Given the description of an element on the screen output the (x, y) to click on. 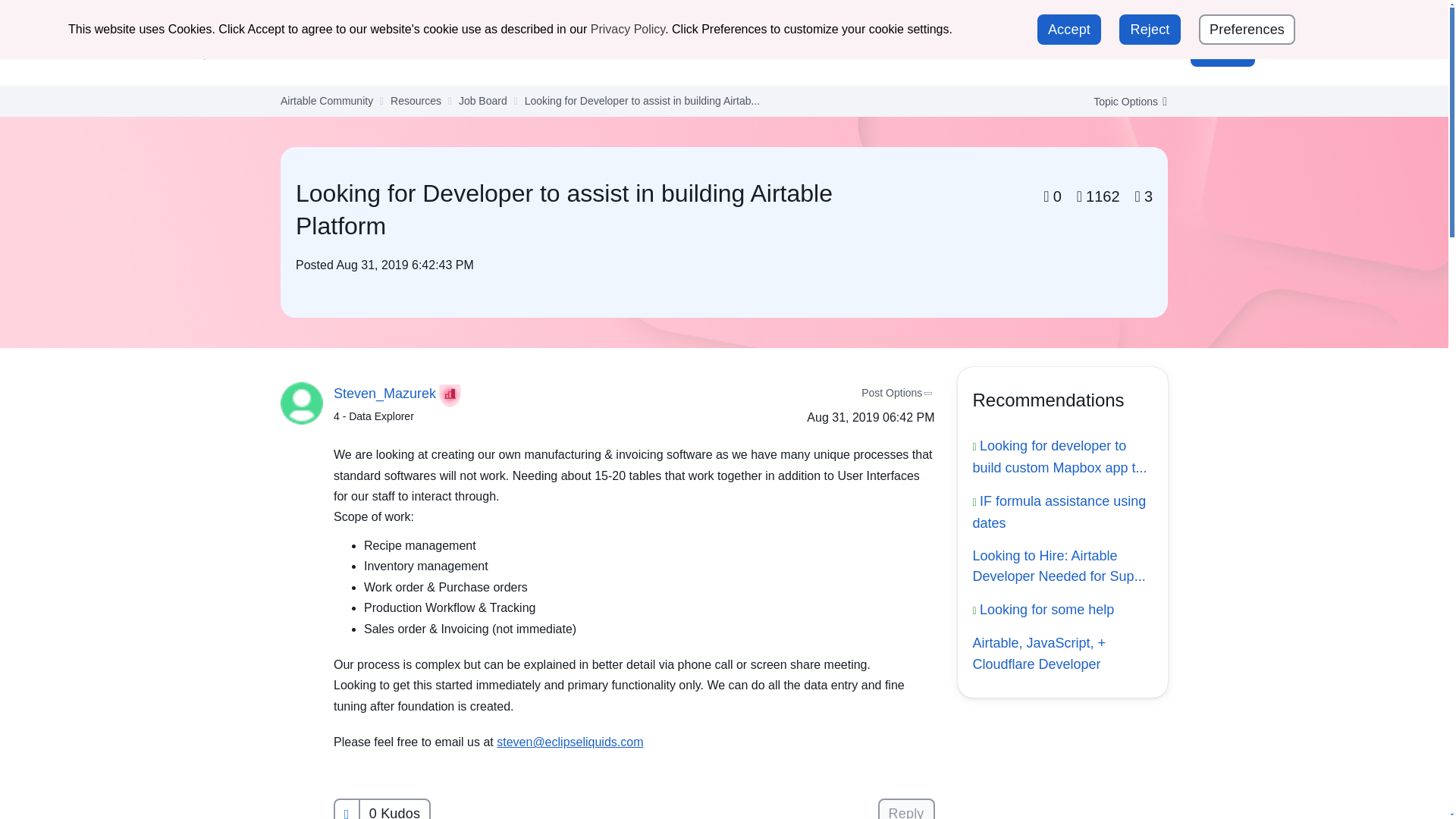
Reject (1149, 29)
Announcements (417, 50)
Sign up for Airtable (1204, 17)
Show option menu (1125, 101)
Resources (734, 50)
Support (1104, 17)
Search (1114, 51)
Preferences (1246, 29)
Accept (1068, 29)
Events (661, 50)
Discussions (519, 50)
Product Ideas (826, 50)
Airtable Community (269, 51)
Groups (597, 50)
Privacy Policy (628, 29)
